Given the description of an element on the screen output the (x, y) to click on. 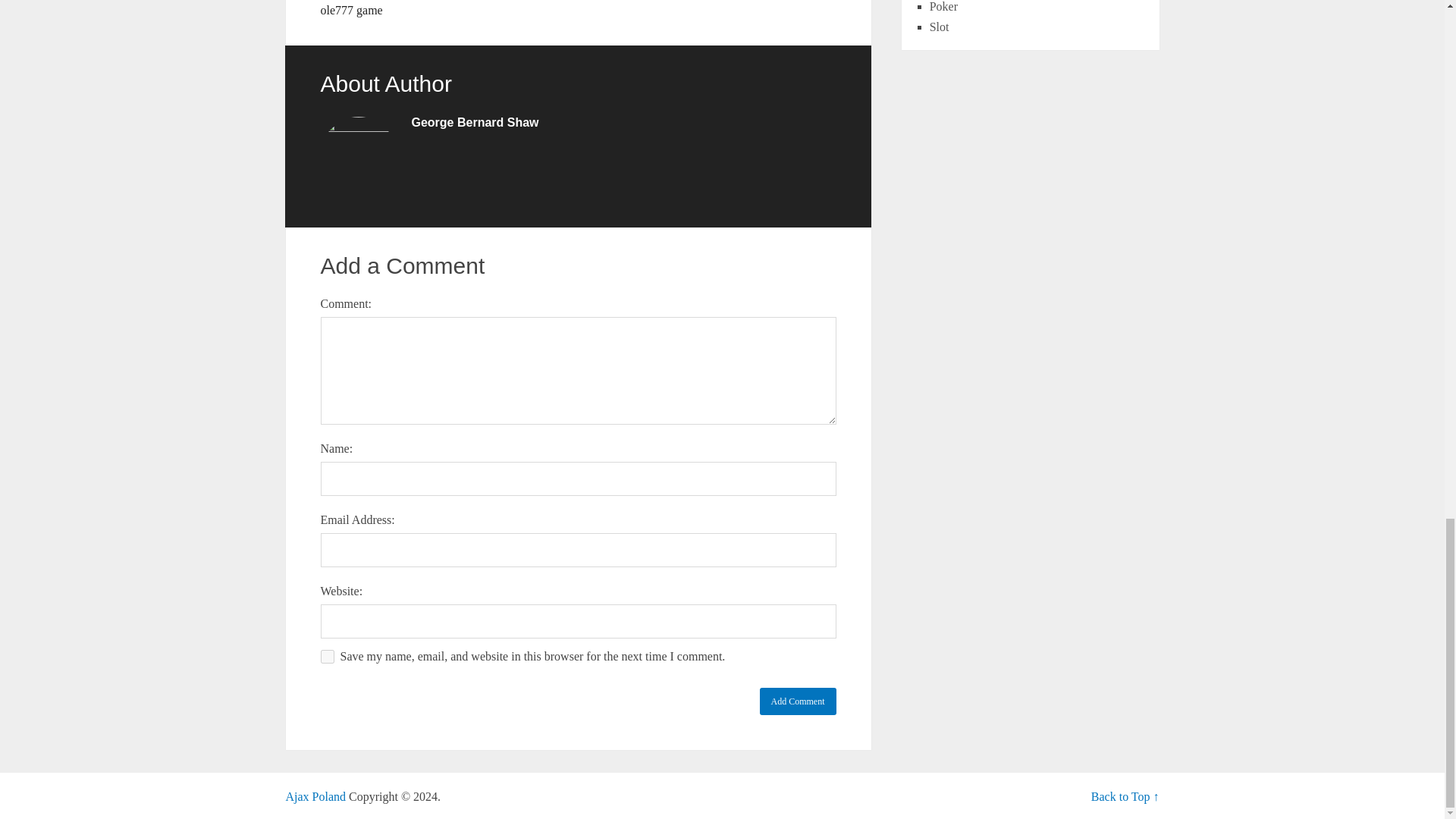
Add Comment (797, 700)
Helpful data to make wise decision on betting (315, 796)
Add Comment (797, 700)
yes (326, 656)
